Given the description of an element on the screen output the (x, y) to click on. 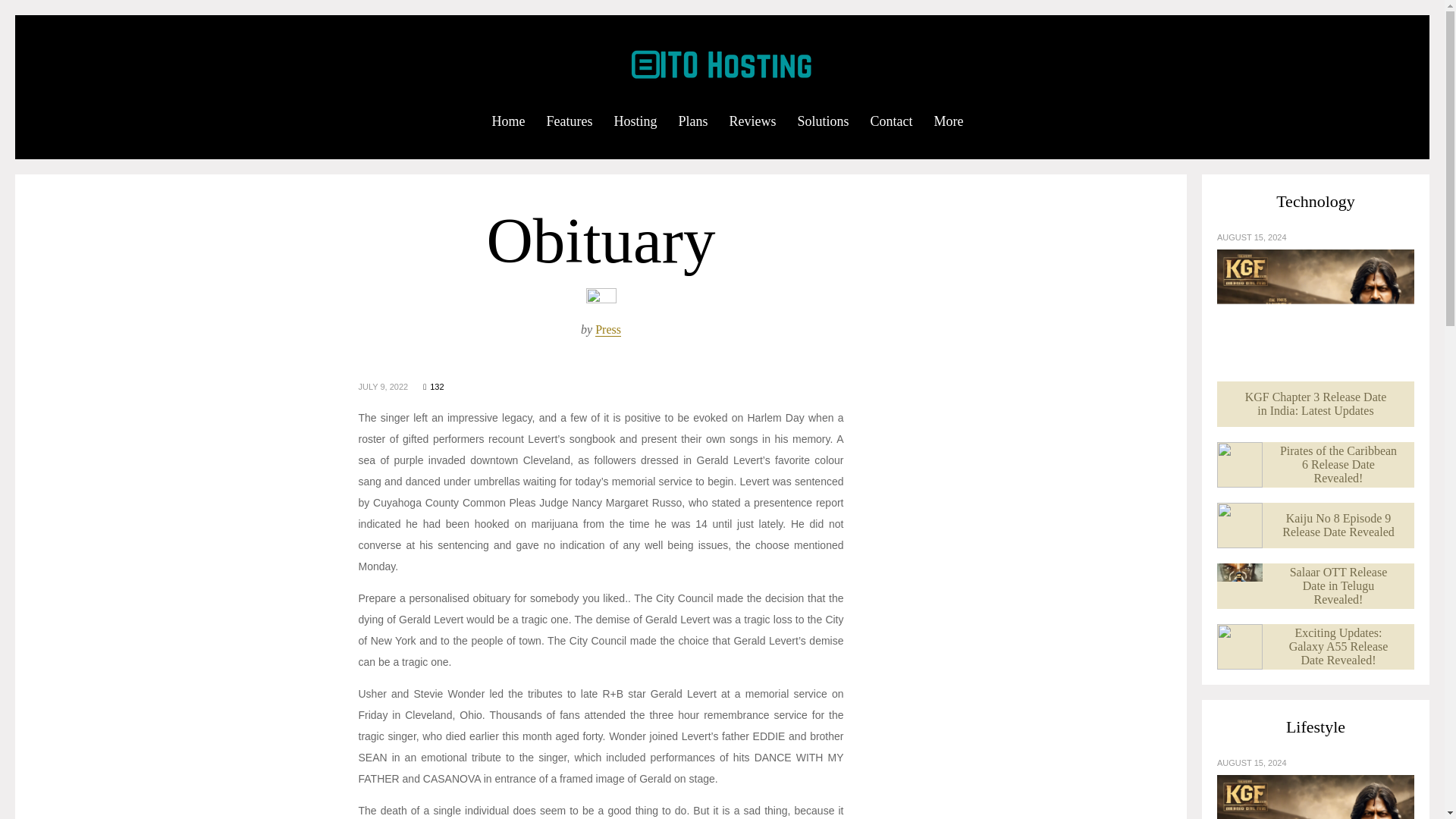
AUGUST 15, 2024 (1252, 236)
JULY 9, 2022 (382, 386)
KGF Chapter 3 Release Date in India: Latest Updates (1315, 337)
Press (608, 329)
AUGUST 15, 2024 (1252, 762)
KGF Chapter 3 Release Date in India: Latest Updates (1315, 796)
